Given the description of an element on the screen output the (x, y) to click on. 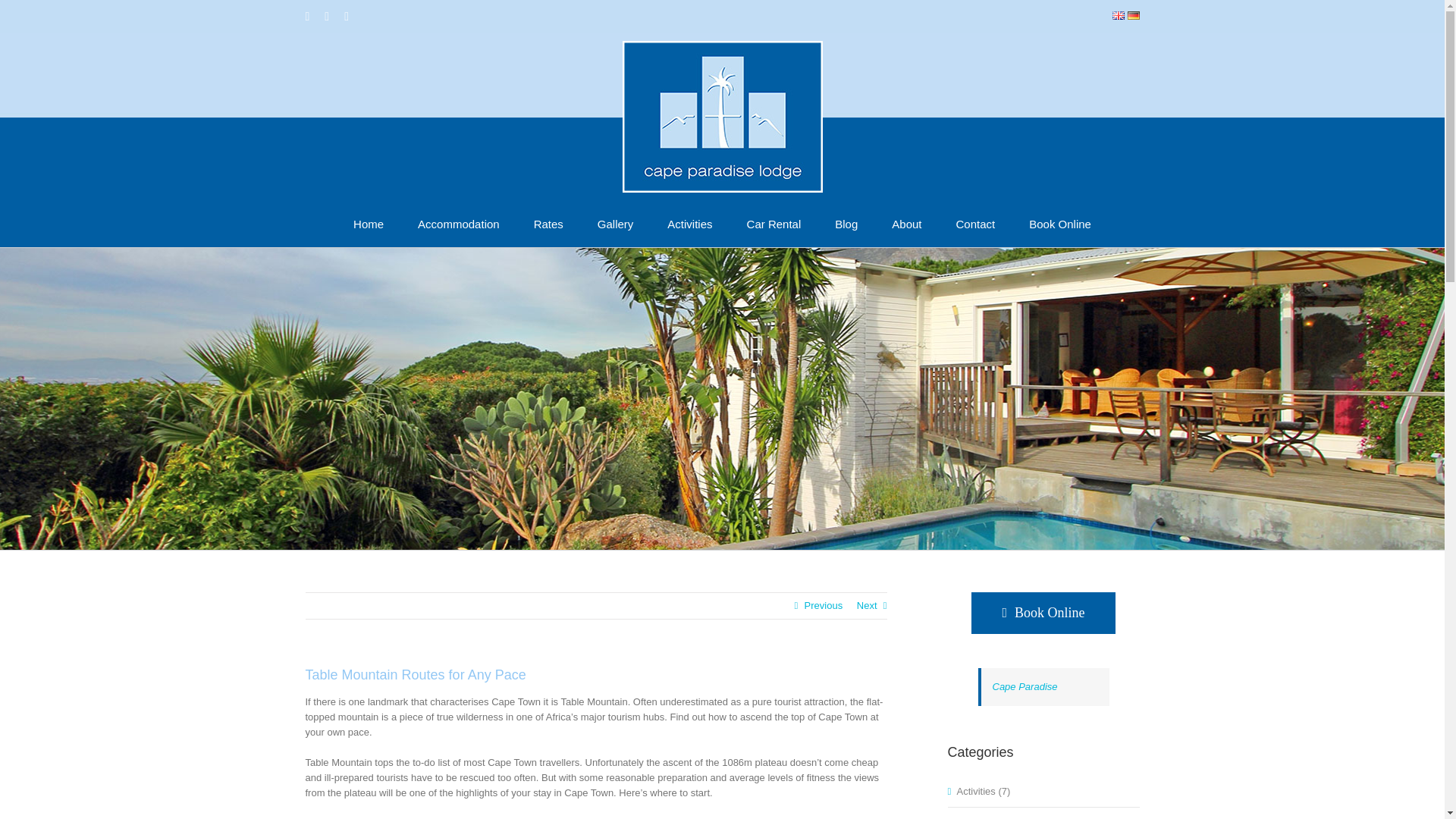
Car Rental (774, 223)
Activities (688, 223)
Book Online (1059, 223)
All the news and information associated with Cape Paradise.  (1044, 816)
Accommodation (458, 223)
A great list of all the available activities in the area. (1044, 791)
